Given the description of an element on the screen output the (x, y) to click on. 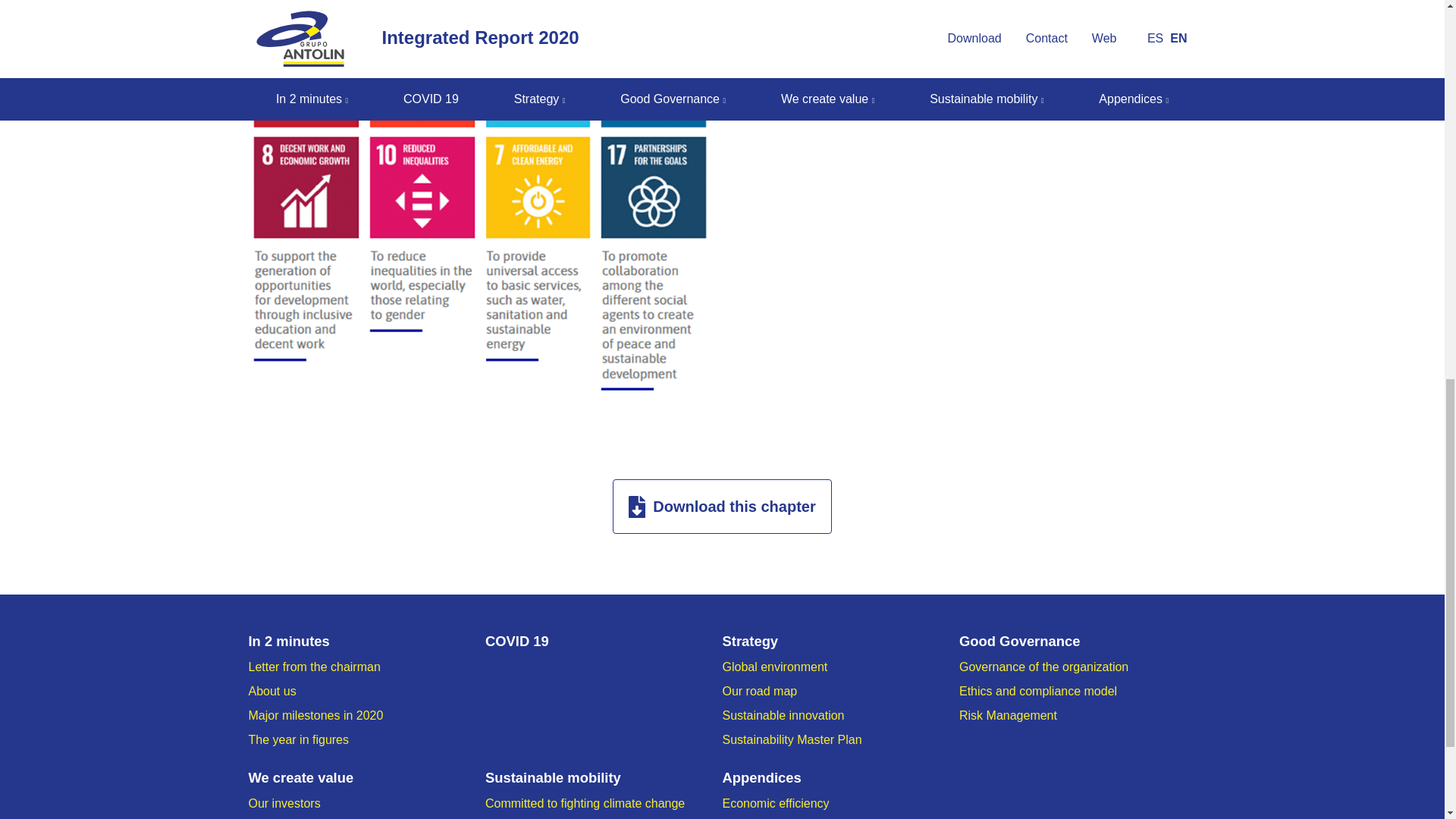
Download this chapter (721, 506)
About us (272, 690)
Letter from the chairman (314, 666)
In 2 minutes (367, 640)
